Given the description of an element on the screen output the (x, y) to click on. 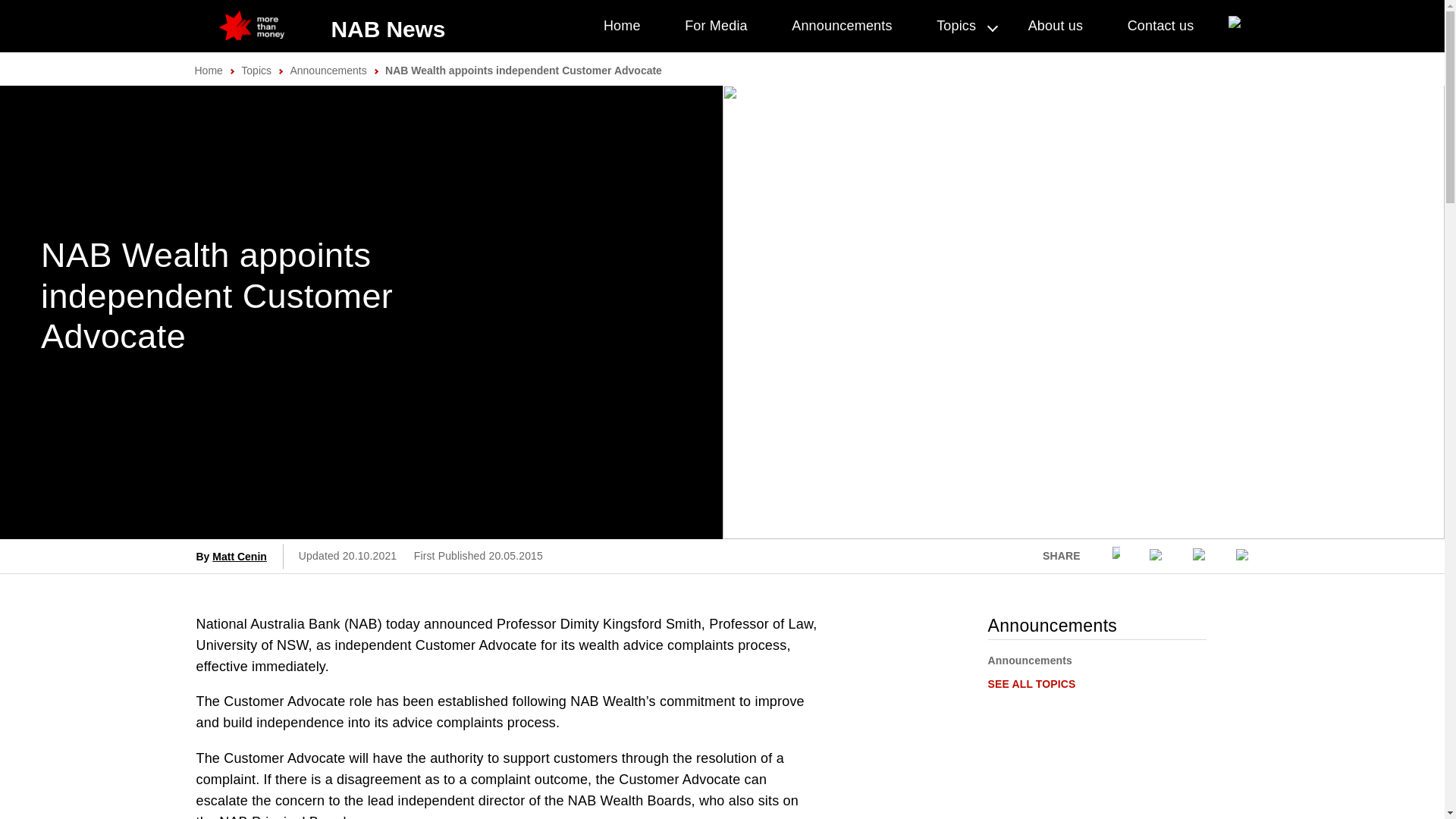
Contact us (1160, 26)
Home (622, 26)
NAB News (387, 28)
Announcements (327, 70)
Announcements (841, 26)
SEE ALL TOPICS (1031, 684)
For Media (715, 26)
Home (207, 70)
About us (1055, 26)
